Given the description of an element on the screen output the (x, y) to click on. 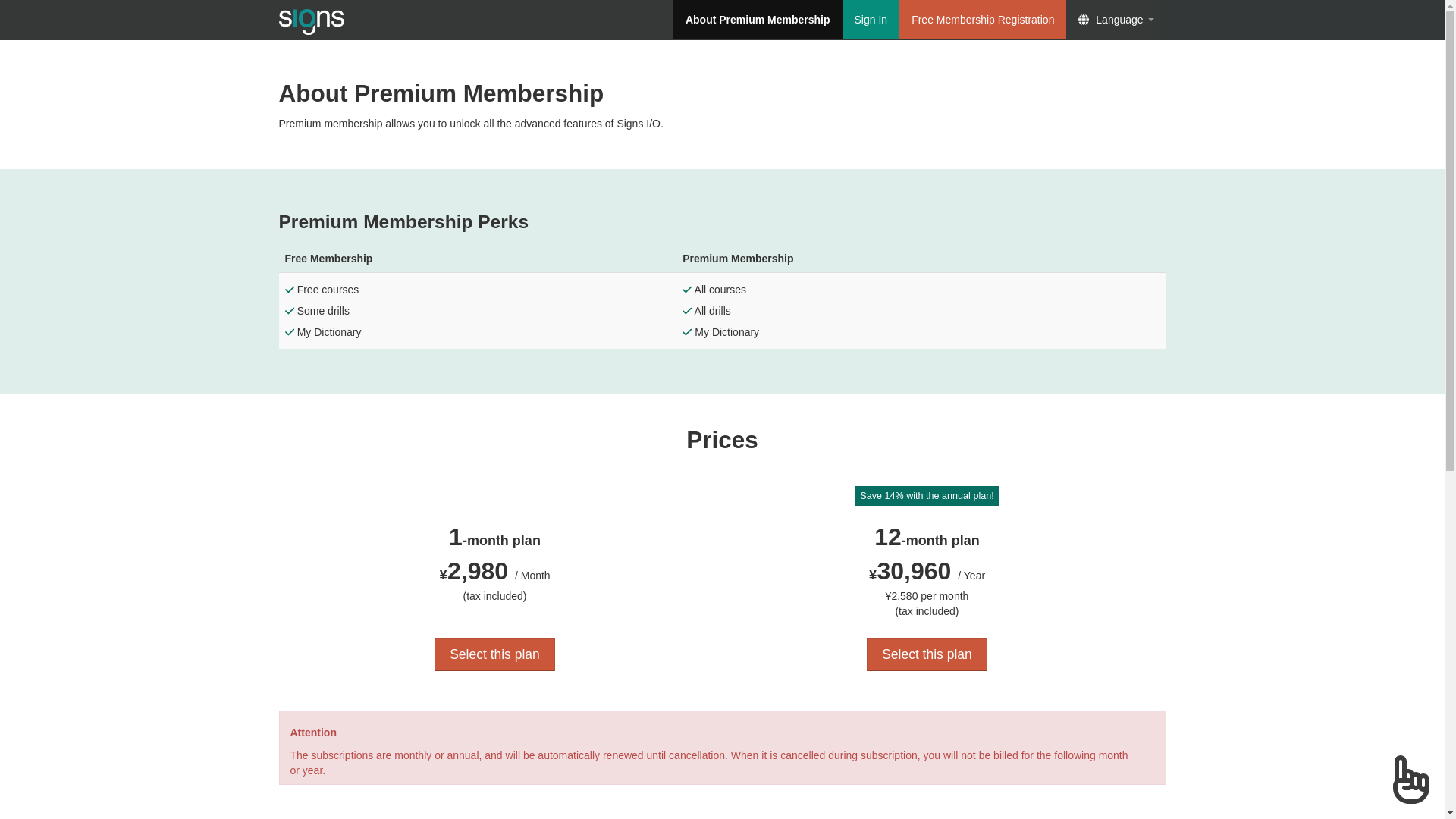
Select this plan (493, 654)
About Premium Membership (757, 19)
Free Membership Registration (982, 19)
Select this plan (926, 654)
Sign In (871, 19)
Language (1115, 19)
